Given the description of an element on the screen output the (x, y) to click on. 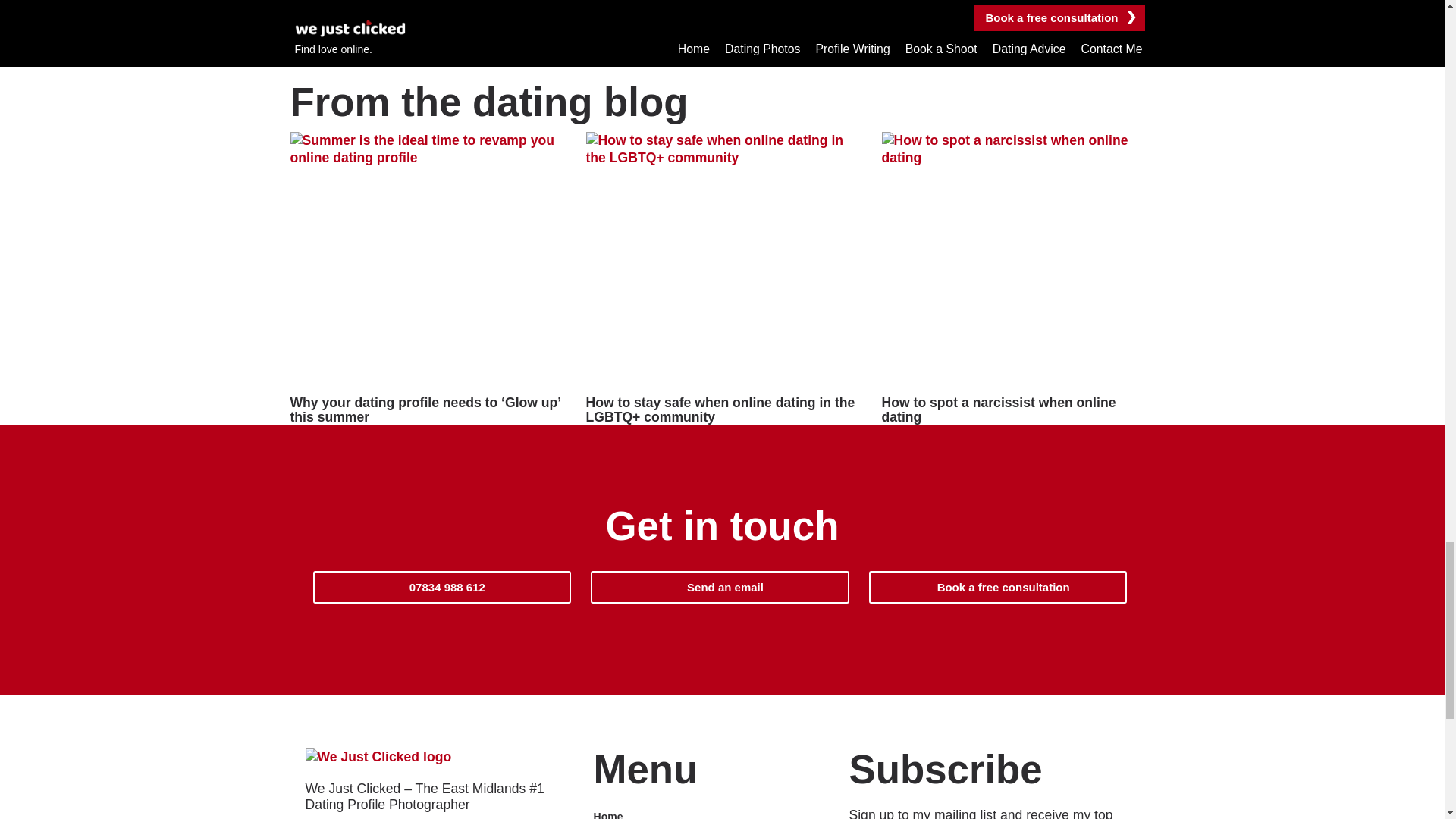
Send an email via my contact page (719, 586)
Book a free consultation over the phone or via Zoom (997, 586)
Call We Just Clicked (441, 586)
